Given the description of an element on the screen output the (x, y) to click on. 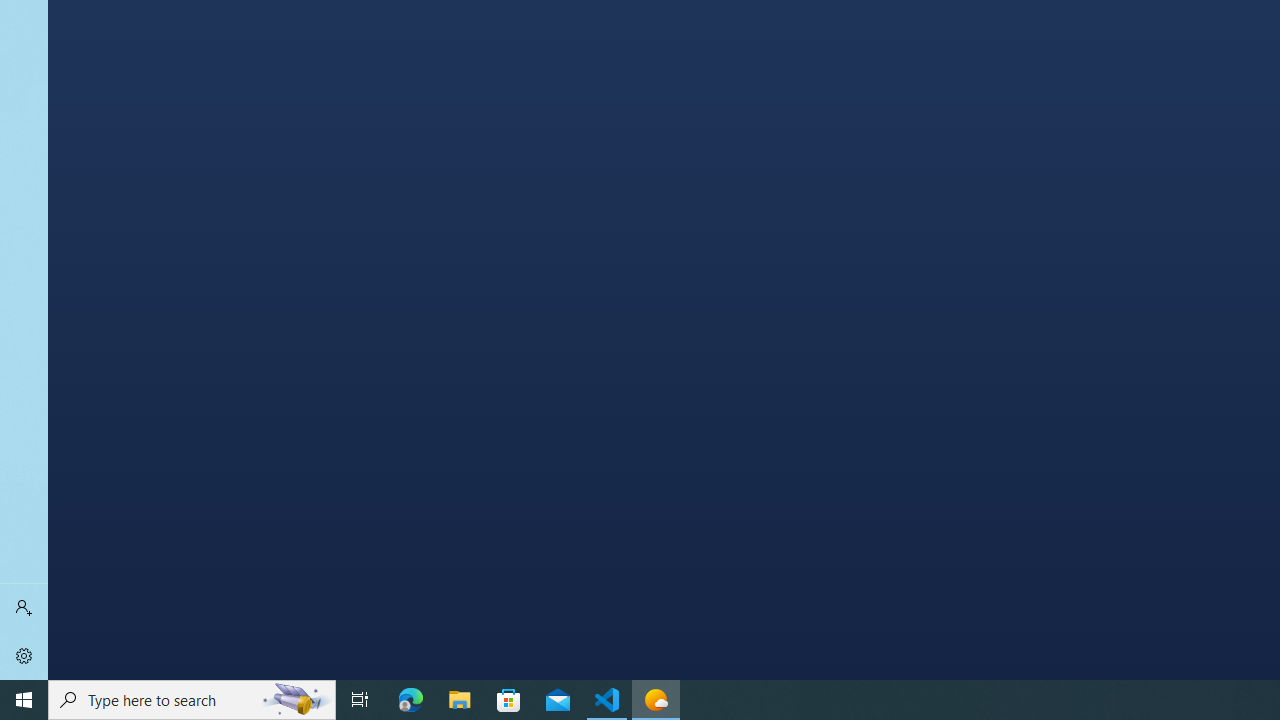
Sign in (24, 607)
Settings (24, 655)
Weather - 1 running window (656, 699)
